Given the description of an element on the screen output the (x, y) to click on. 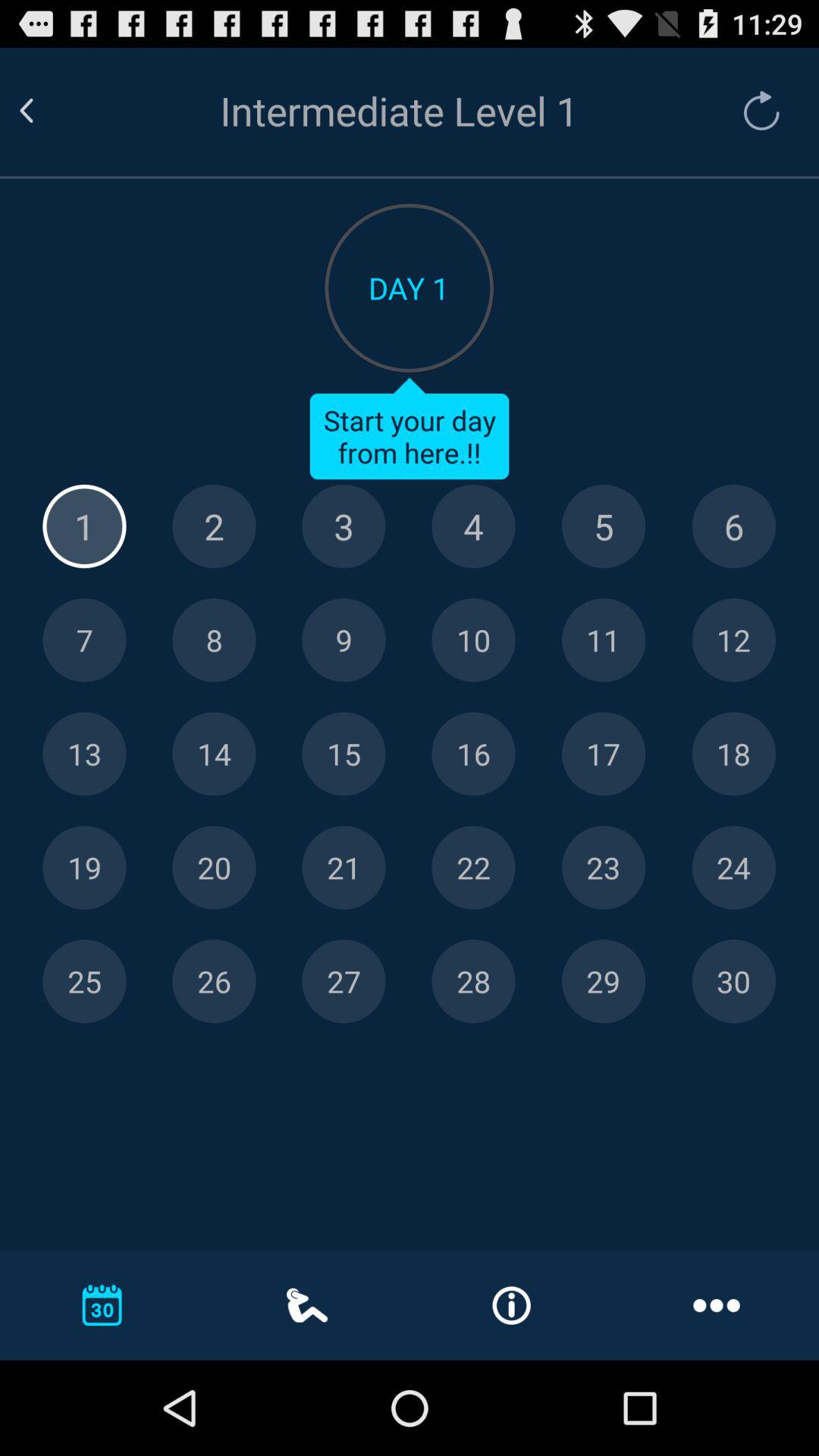
select end date (603, 981)
